Given the description of an element on the screen output the (x, y) to click on. 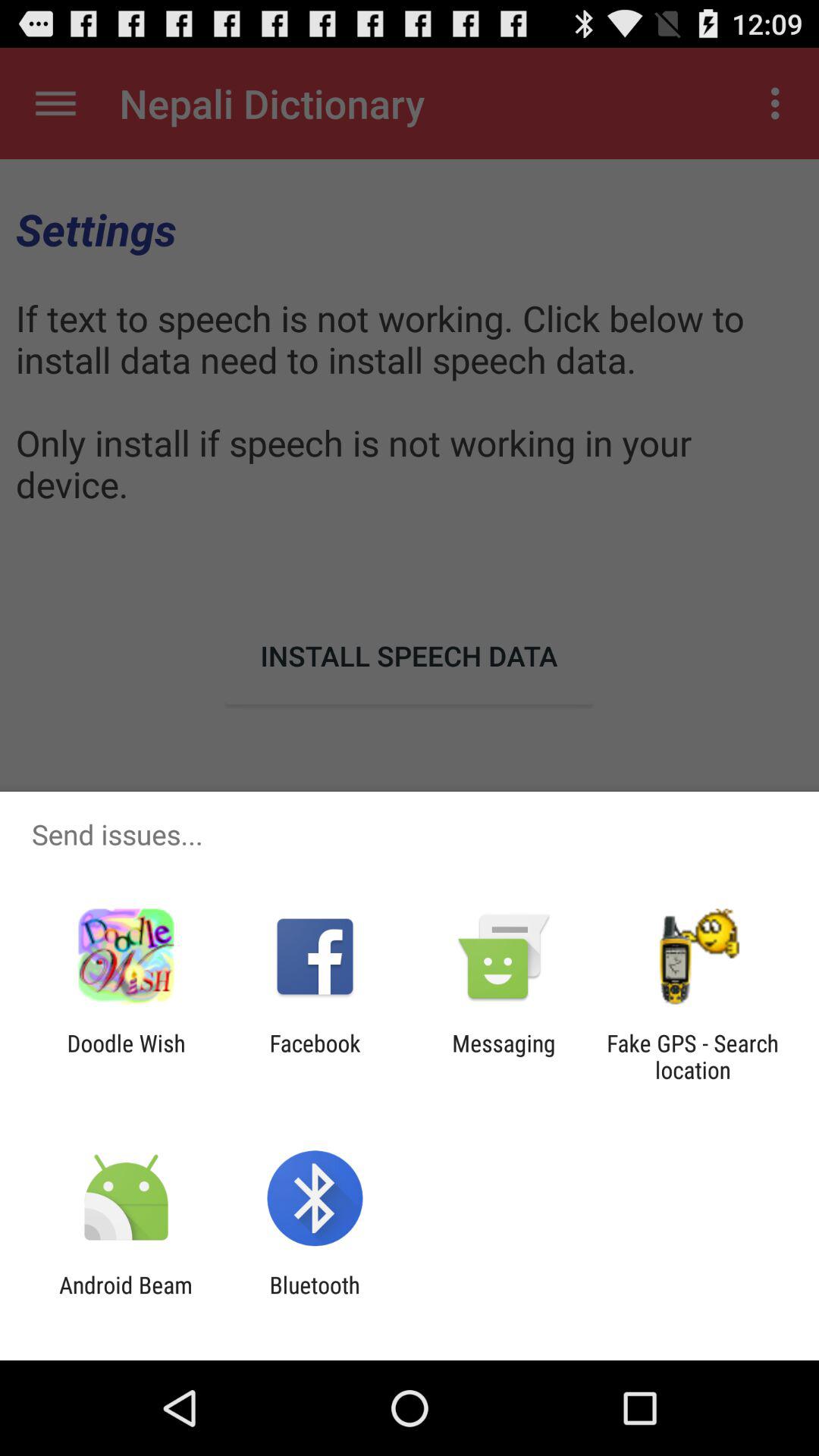
choose the app to the right of the android beam item (314, 1298)
